Given the description of an element on the screen output the (x, y) to click on. 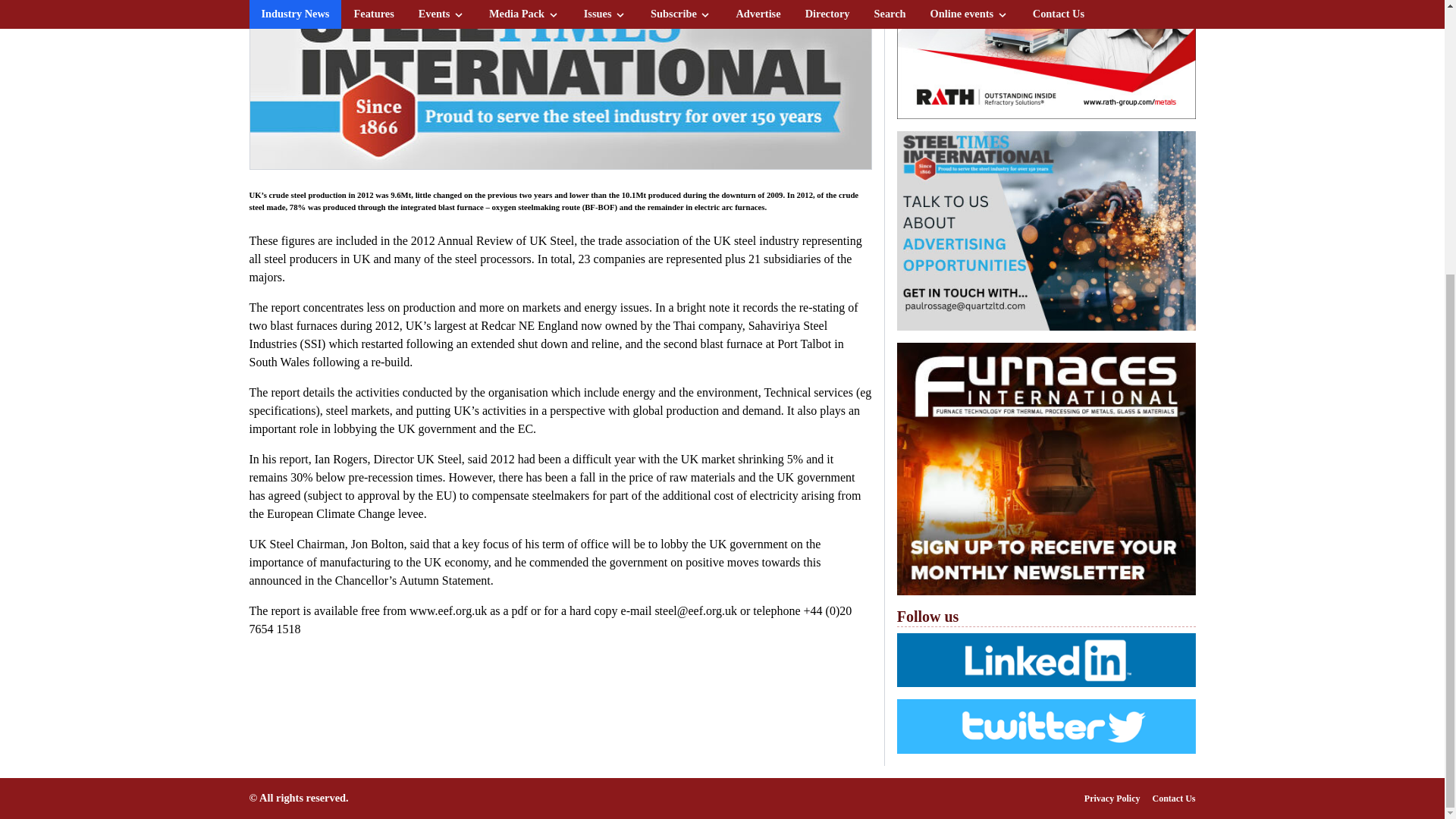
LinkedIn (1045, 660)
Twitter (1045, 726)
STI sponsorship (1045, 230)
Furnaces International (1045, 469)
RATH (1045, 59)
